Given the description of an element on the screen output the (x, y) to click on. 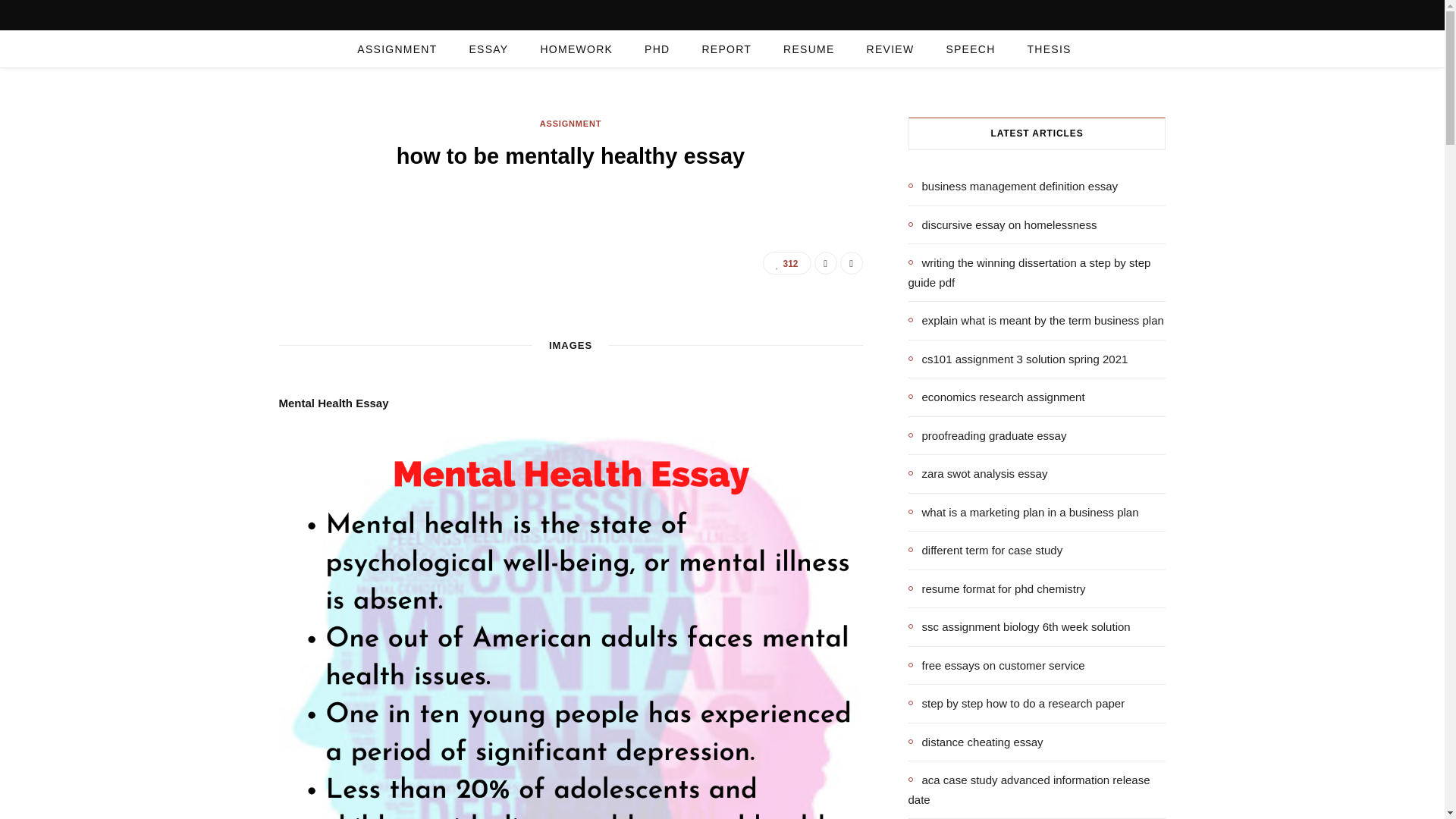
REPORT (726, 48)
explain what is meant by the term business plan (1035, 320)
cs101 assignment 3 solution spring 2021 (1018, 358)
zara swot analysis essay (978, 474)
different term for case study (985, 550)
REVIEW (890, 48)
Share on Twitter (851, 262)
THESIS (1049, 48)
proofreading graduate essay (987, 435)
